Given the description of an element on the screen output the (x, y) to click on. 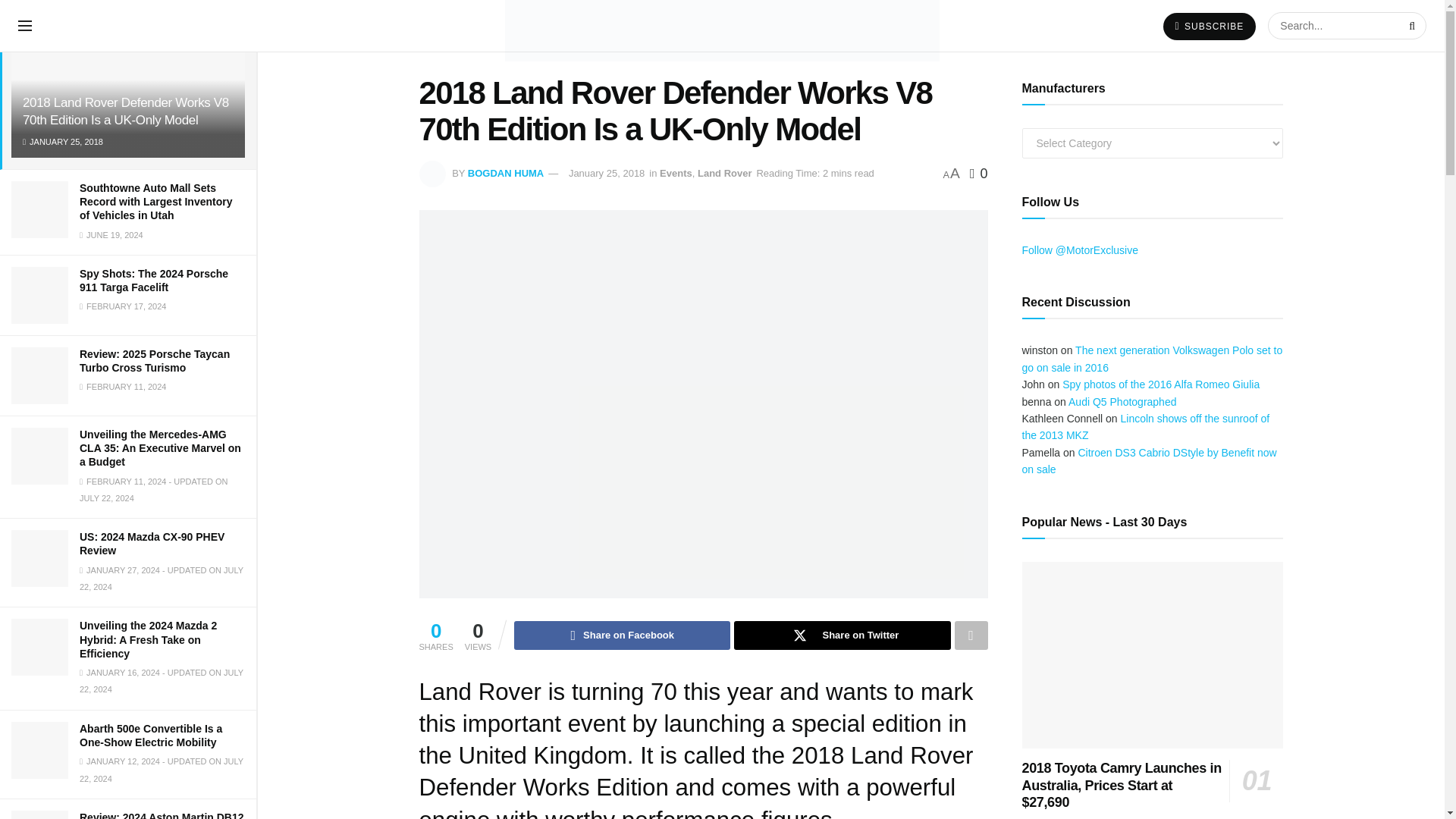
Abarth 500e Convertible Is a One-Show Electric Mobility (151, 735)
Review: 2025 Porsche Taycan Turbo Cross Turismo (155, 360)
Review: 2024 Aston Martin DB12 (162, 815)
Spy Shots: The 2024 Porsche 911 Targa Facelift (154, 280)
US: 2024 Mazda CX-90 PHEV Review (152, 543)
SUBSCRIBE (1209, 26)
